Given the description of an element on the screen output the (x, y) to click on. 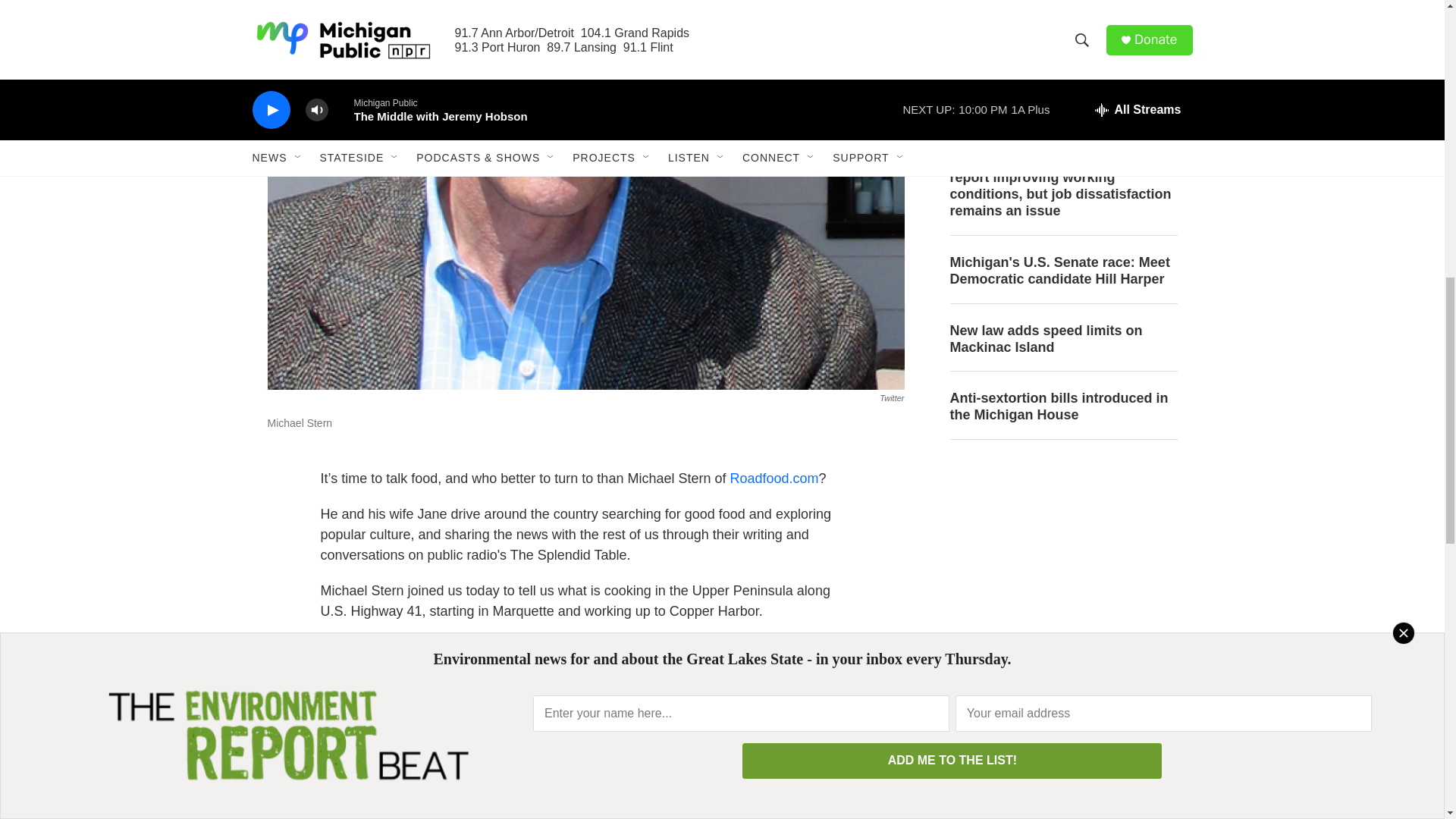
3rd party ad content (1062, 754)
3rd party ad content (1062, 565)
